Given the description of an element on the screen output the (x, y) to click on. 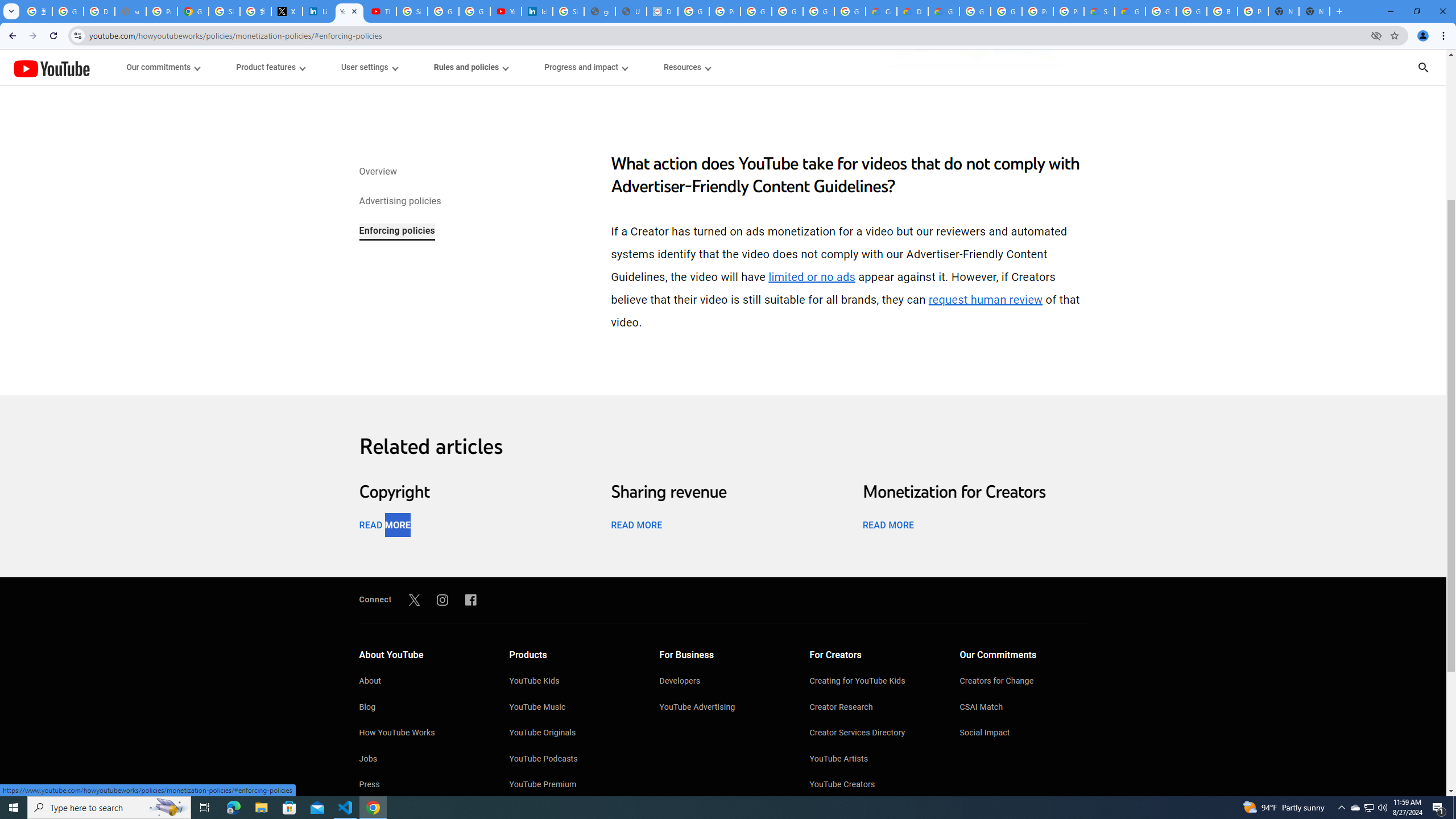
YouTube (51, 68)
X (286, 11)
Advertising policies (399, 202)
limited or no ads (812, 277)
Google Cloud Platform (1005, 11)
YouTube Music (573, 708)
YouTube Premium (573, 785)
New Tab (1314, 11)
Press (422, 785)
